Given the description of an element on the screen output the (x, y) to click on. 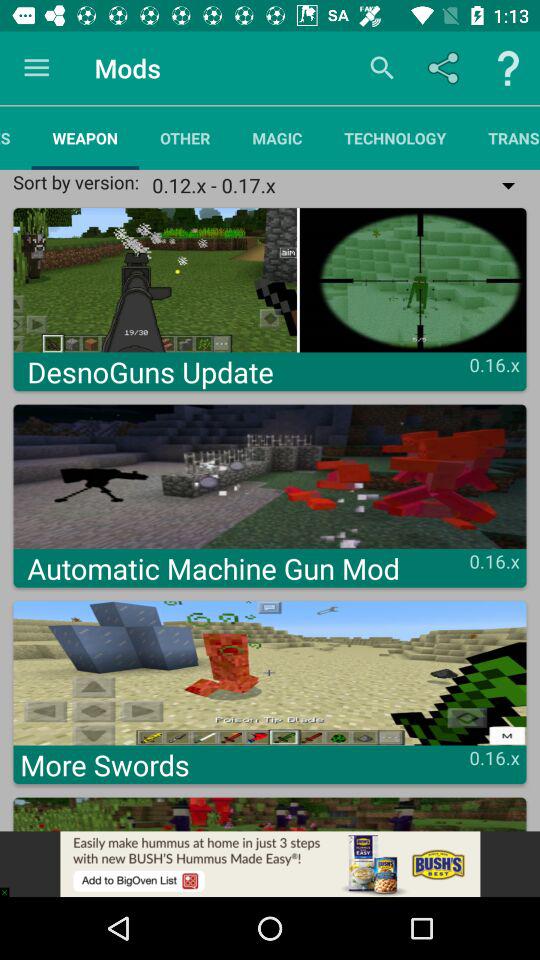
adsense link (270, 864)
